Given the description of an element on the screen output the (x, y) to click on. 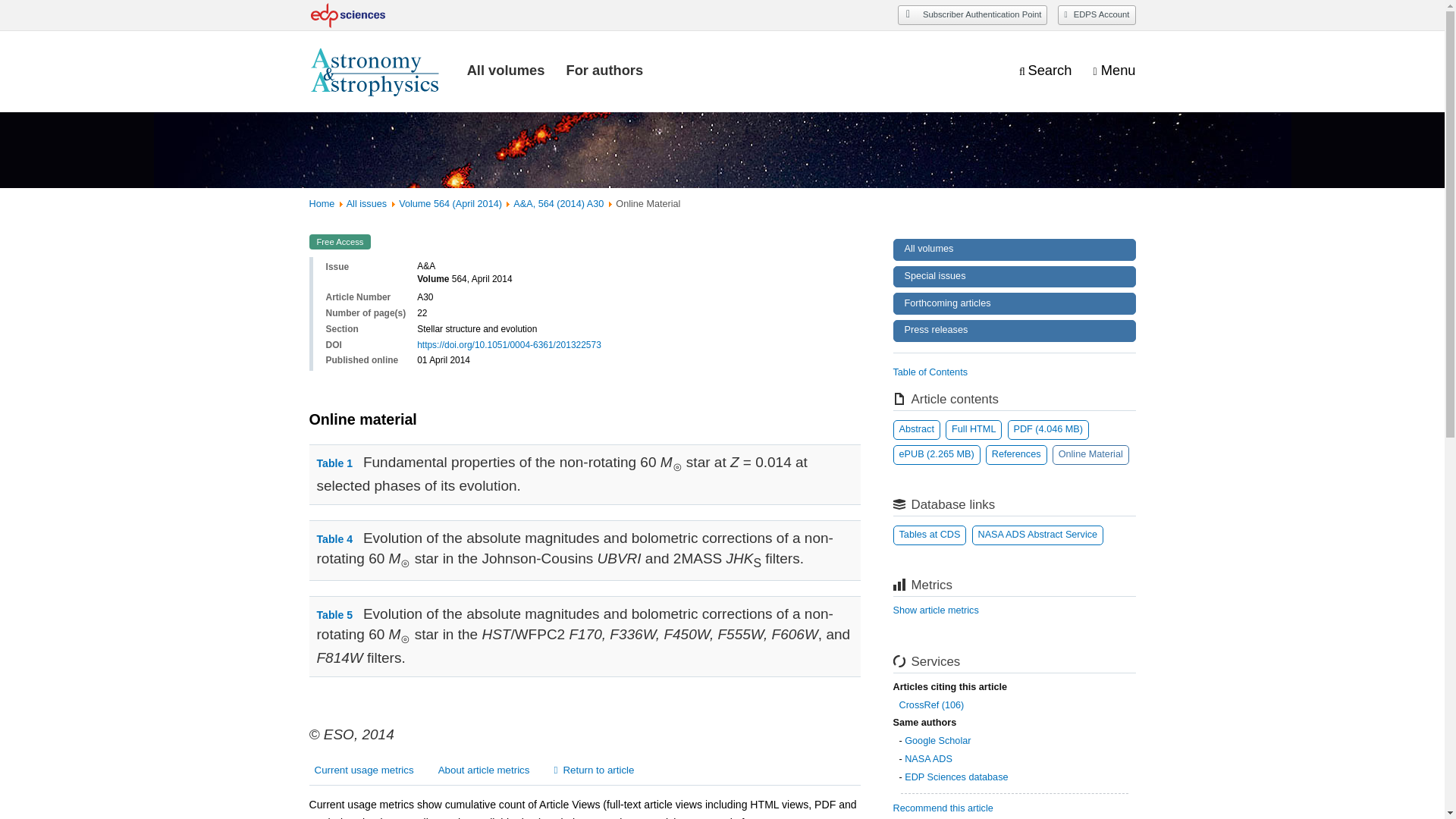
Display the search engine (1045, 71)
All volumes (505, 70)
Abstract (916, 429)
Menu (1114, 71)
For authors (604, 70)
References (1015, 455)
Online Material (1090, 455)
Full HTML (972, 429)
Journal homepage (376, 71)
Article abstracts available on the Astrophysics Data System (1037, 535)
